Given the description of an element on the screen output the (x, y) to click on. 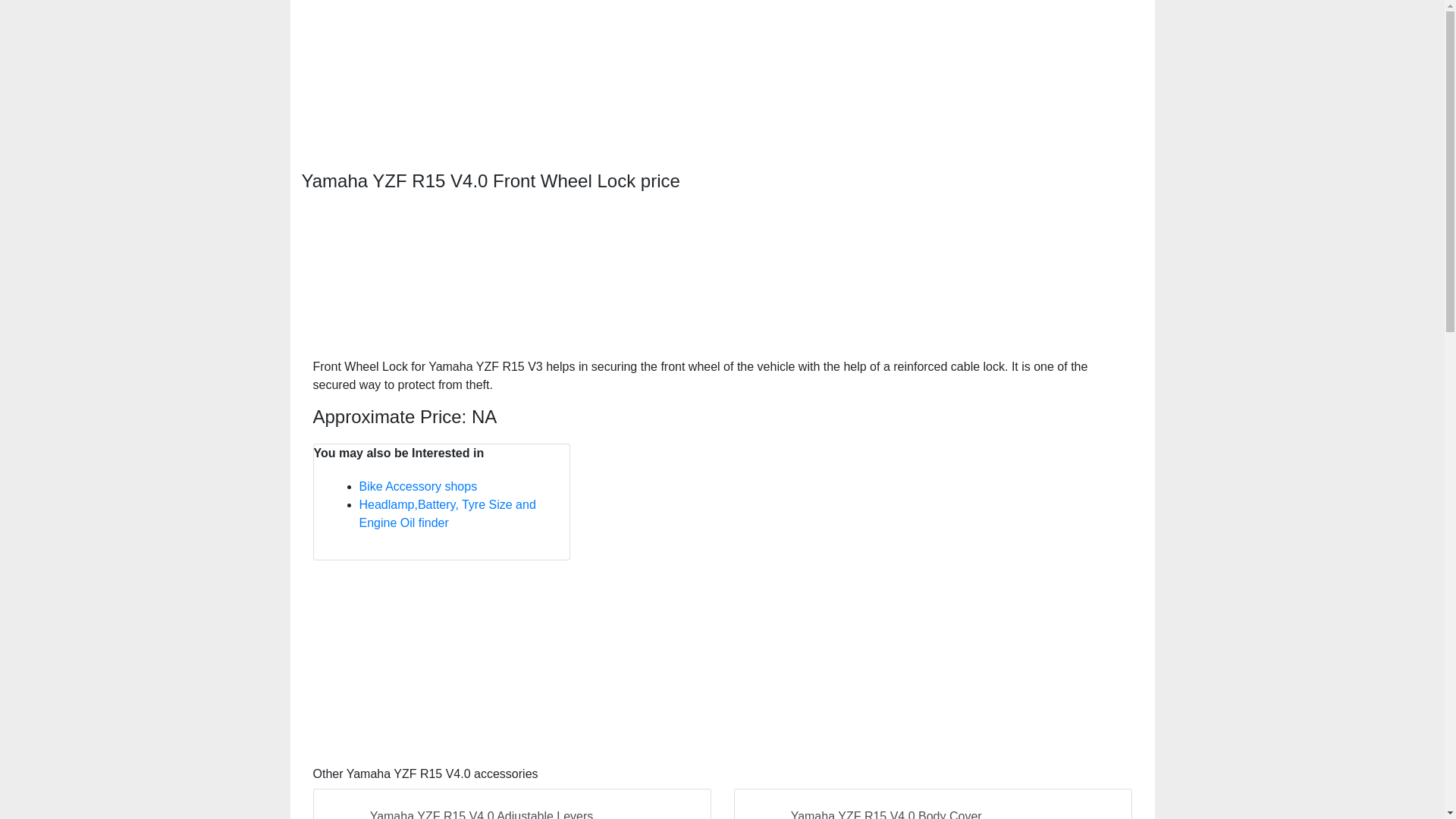
Headlamp,Battery, Tyre Size and Engine Oil finder (447, 513)
Yamaha YZF R15 V4.0 Adjustable Levers (511, 803)
Bike Accessory shops (418, 486)
Yamaha YZF R15 V4.0 Body Cover (932, 803)
